Given the description of an element on the screen output the (x, y) to click on. 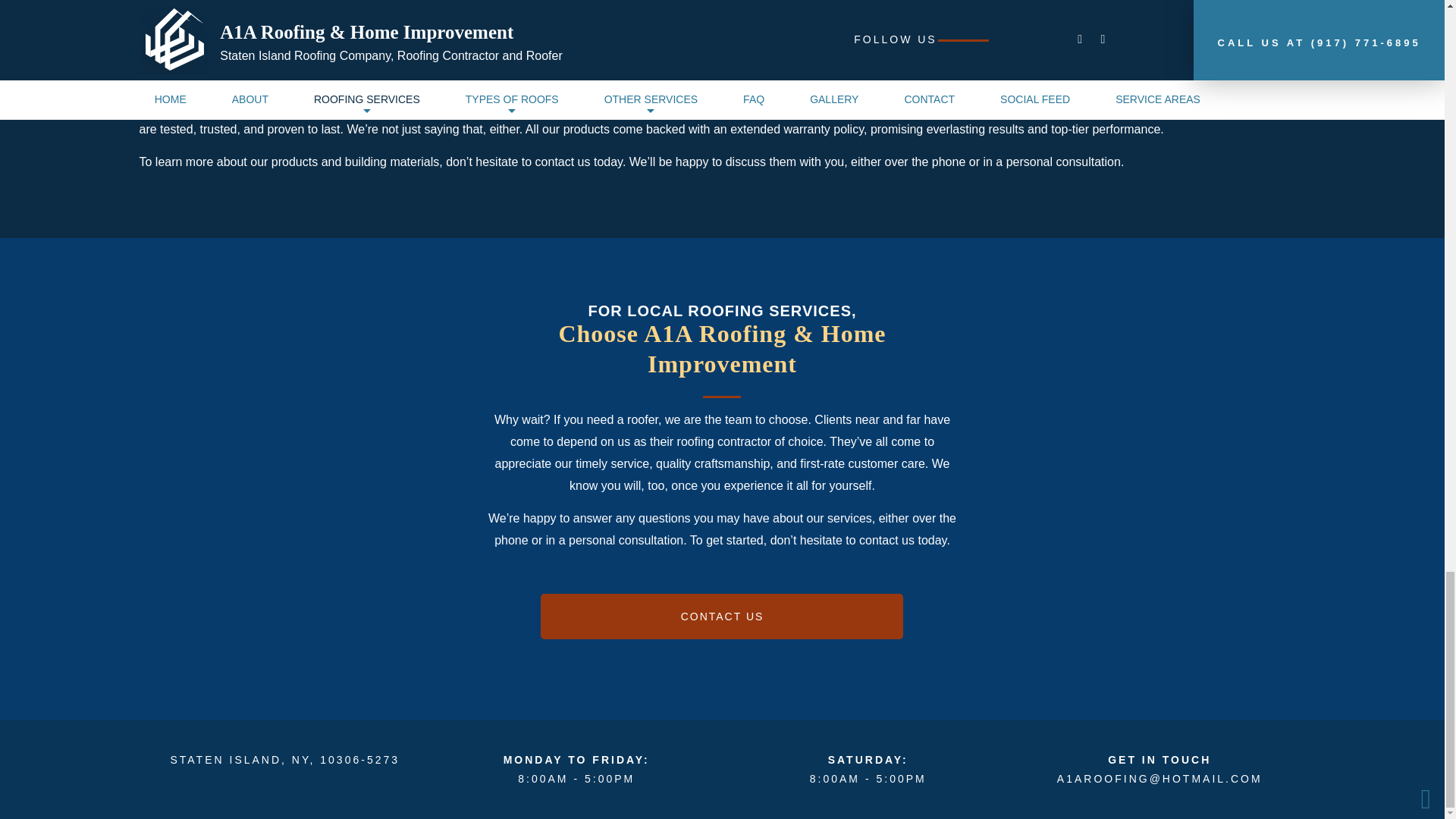
Contact us to Get Started Today (721, 616)
